Given the description of an element on the screen output the (x, y) to click on. 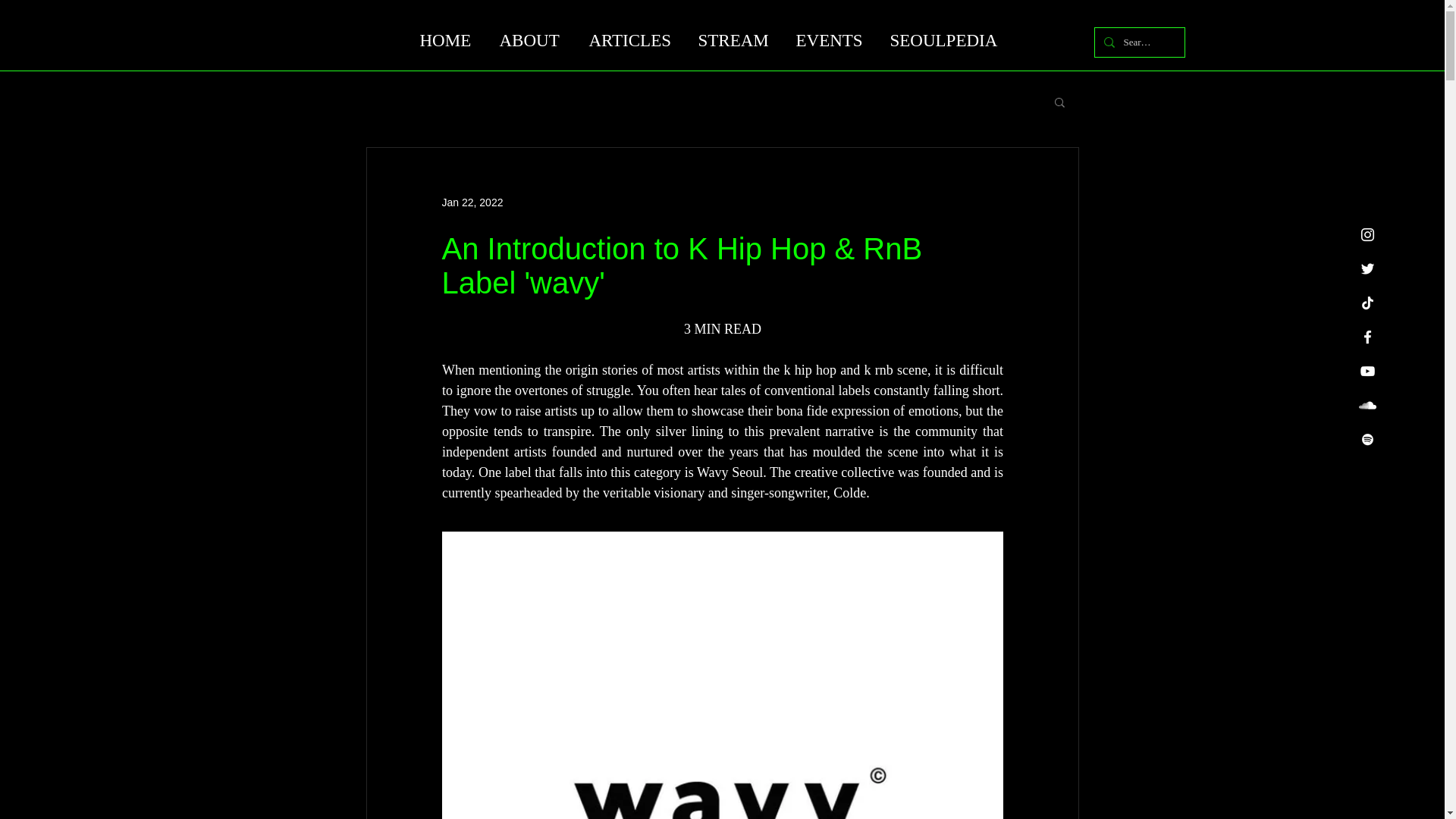
EVENTS (830, 40)
Jan 22, 2022 (471, 201)
HOME (447, 40)
ABOUT (532, 40)
